Given the description of an element on the screen output the (x, y) to click on. 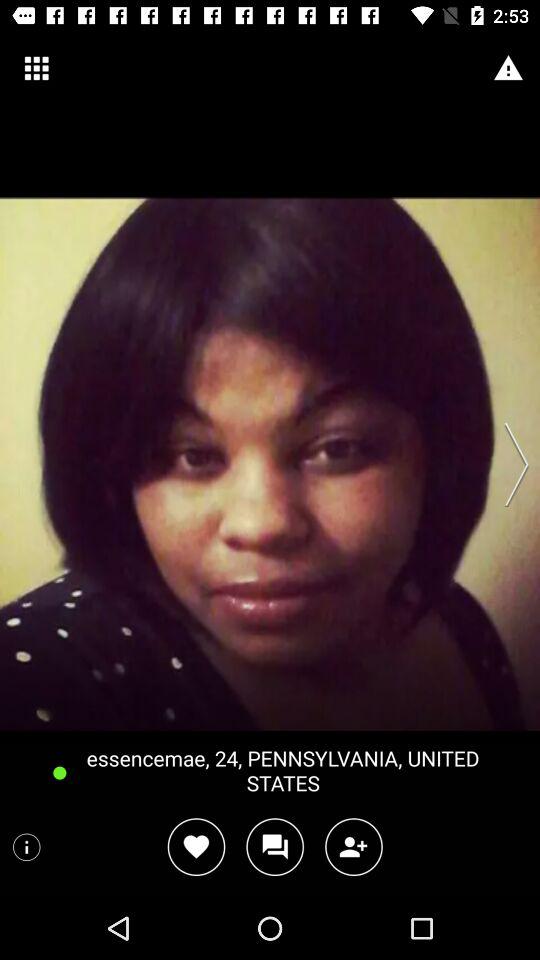
love the person on a dating app (196, 846)
